Given the description of an element on the screen output the (x, y) to click on. 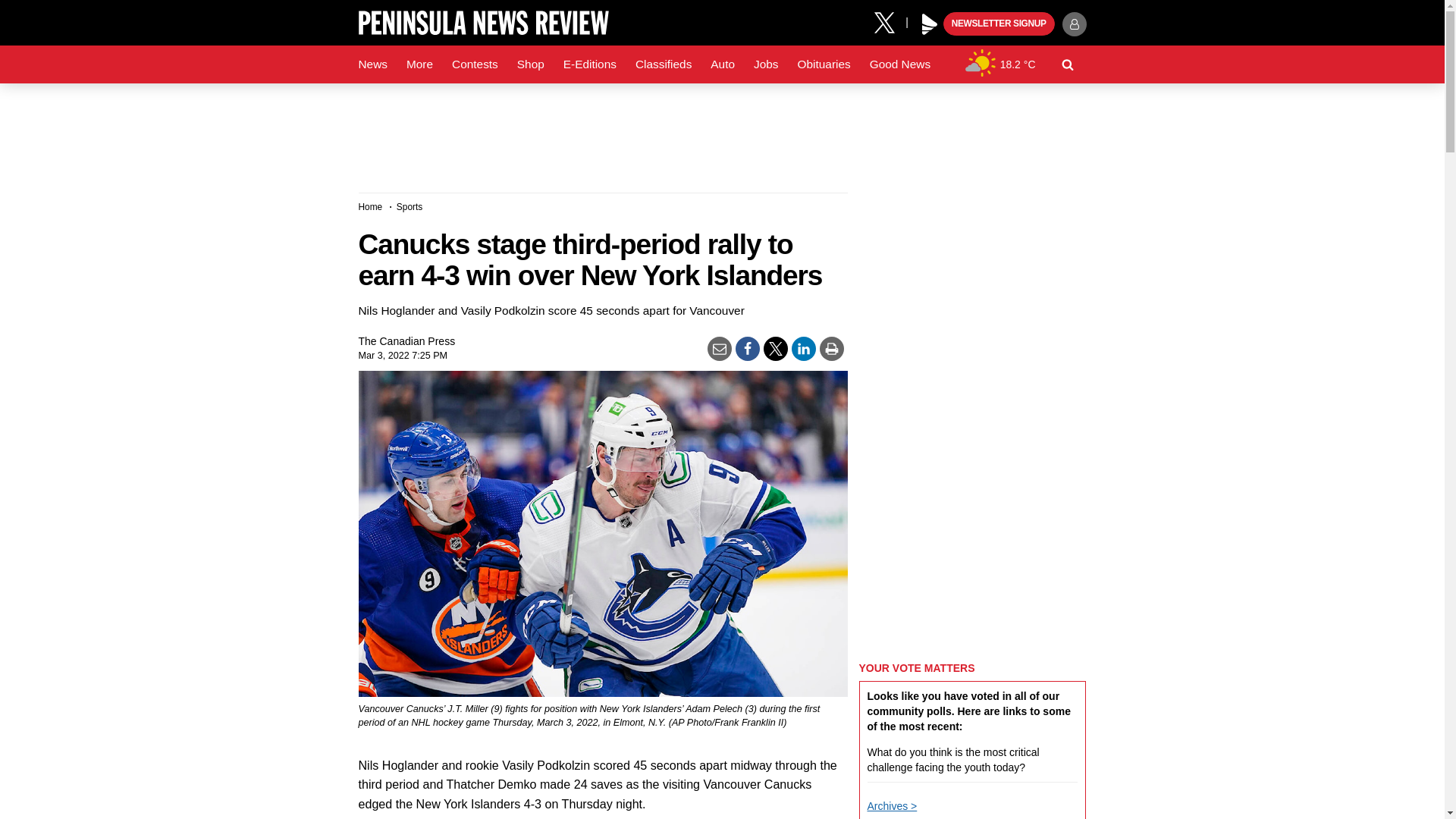
NEWSLETTER SIGNUP (998, 24)
News (372, 64)
X (889, 21)
3rd party ad content (721, 131)
Play (929, 24)
